Given the description of an element on the screen output the (x, y) to click on. 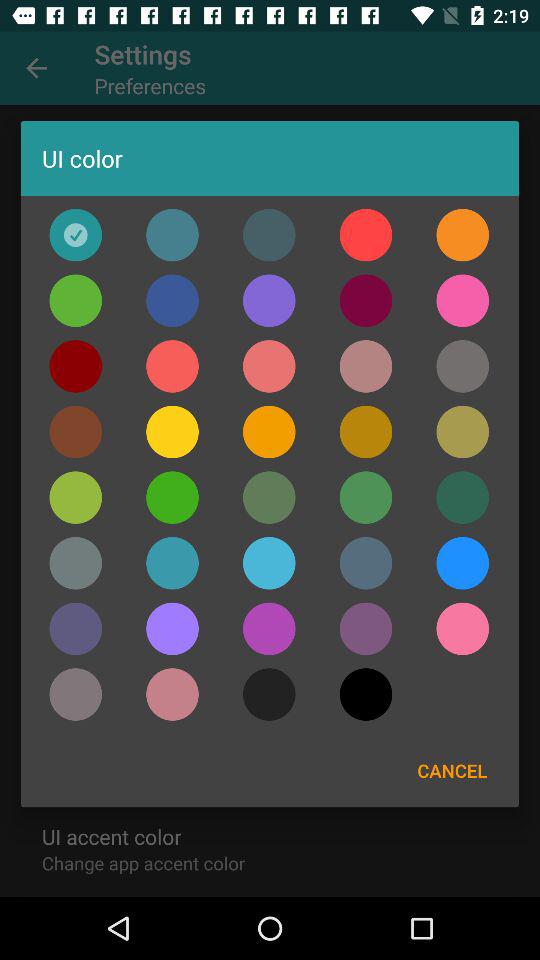
select any one (75, 234)
